Given the description of an element on the screen output the (x, y) to click on. 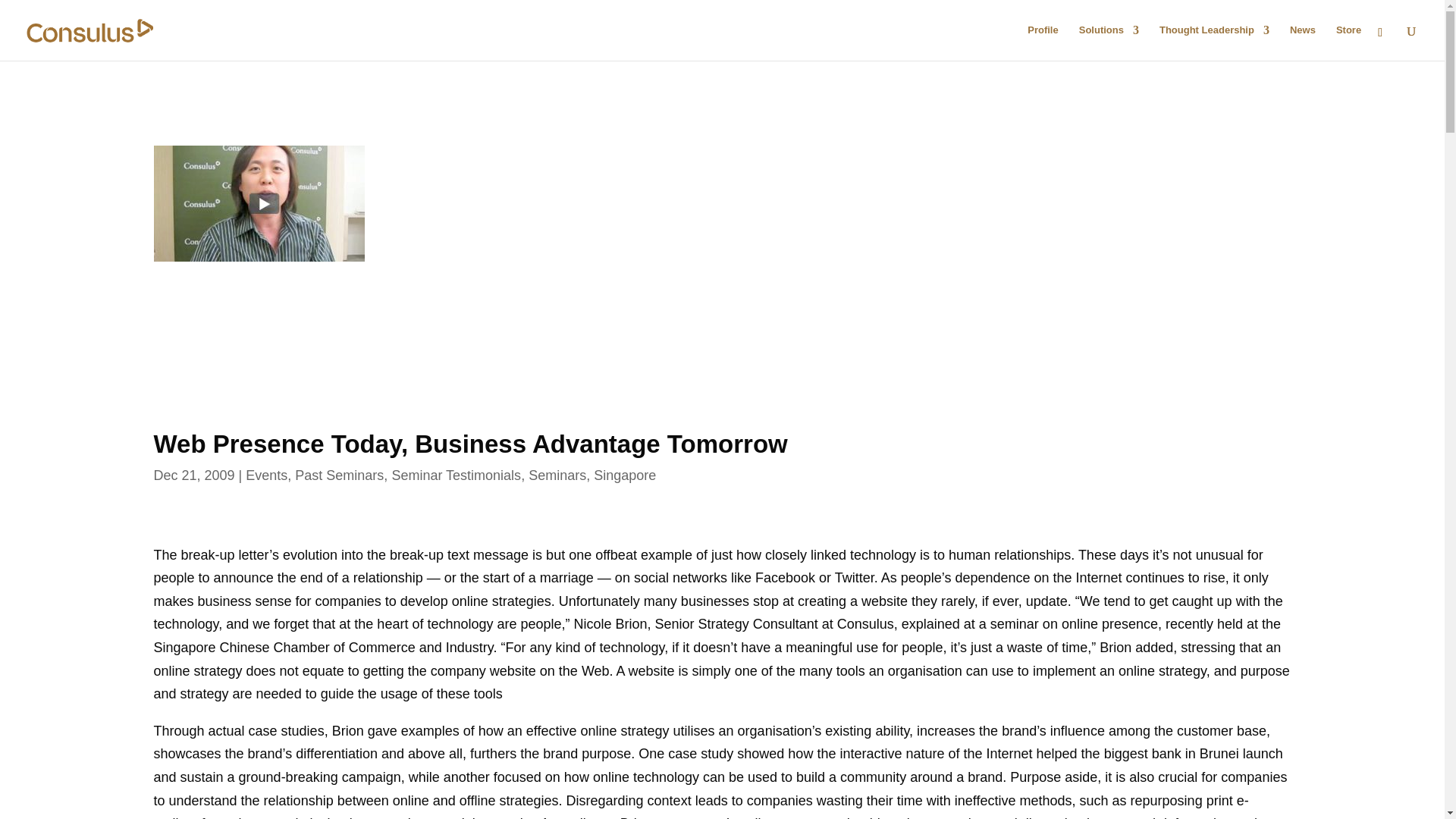
Seminars (557, 475)
Past Seminars (339, 475)
Seminar Testimonials (456, 475)
Singapore (625, 475)
Solutions (1108, 42)
Events (266, 475)
Thought Leadership (1213, 42)
